Given the description of an element on the screen output the (x, y) to click on. 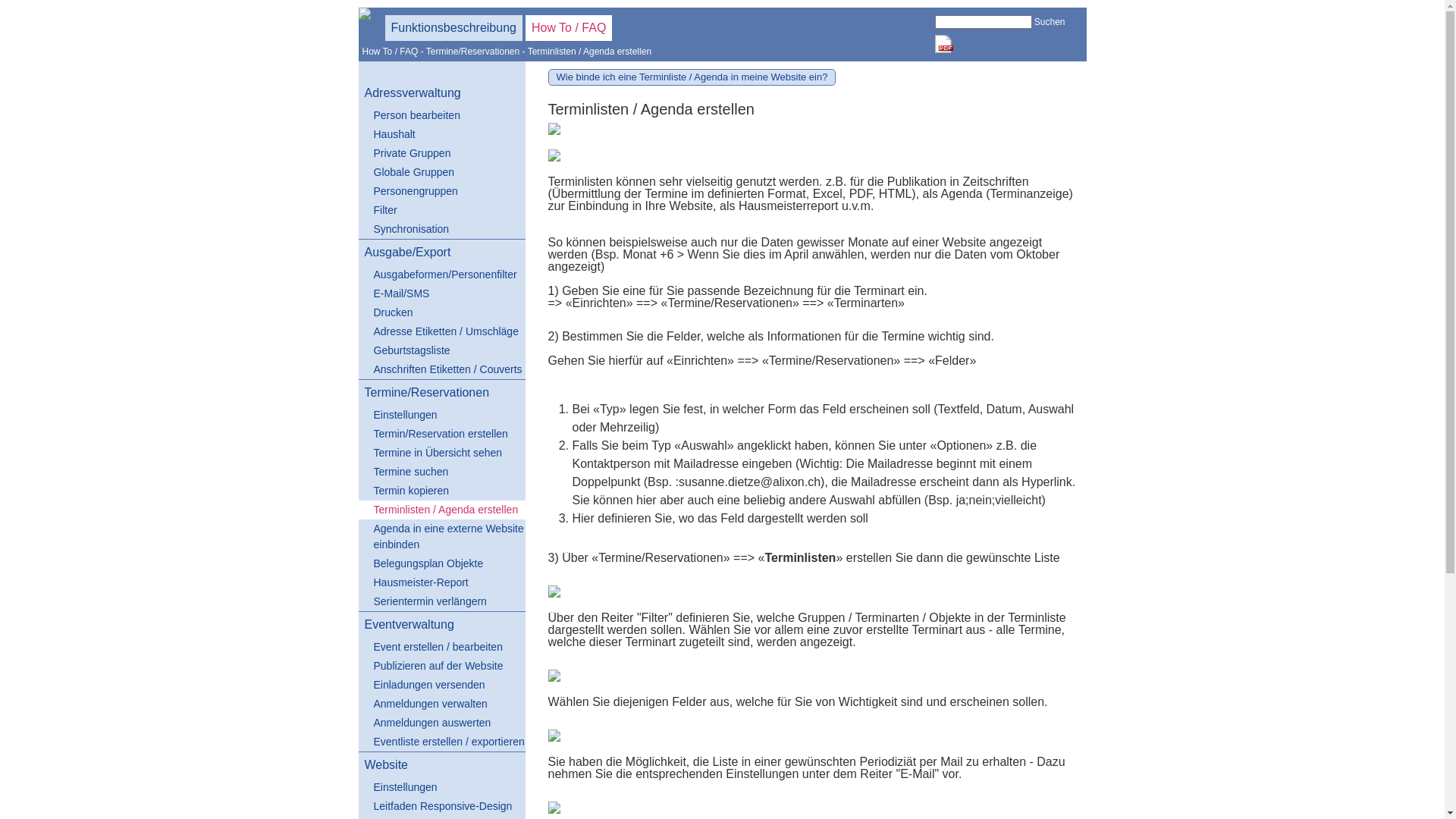
Eventverwaltung Element type: text (440, 624)
Belegungsplan Objekte Element type: text (440, 563)
Leitfaden Responsive-Design Element type: text (440, 806)
Person bearbeiten Element type: text (440, 115)
Hausmeister-Report Element type: text (440, 582)
Drucken Element type: text (440, 312)
Terminlisten / Agenda erstellen Element type: text (440, 509)
Filter Element type: text (440, 209)
Ausgabeformen/Personenfilter Element type: text (440, 274)
Haushalt Element type: text (440, 134)
Funktionsbeschreibung Element type: text (453, 27)
Anmeldungen verwalten Element type: text (440, 703)
Private Gruppen Element type: text (440, 153)
Einladungen versenden Element type: text (440, 684)
Ausgabe/Export Element type: text (440, 252)
Termin kopieren Element type: text (440, 490)
Anmeldungen auswerten Element type: text (440, 722)
Website Element type: text (440, 765)
Anmelden Element type: text (707, 235)
Event erstellen / bearbeiten Element type: text (440, 646)
Adressverwaltung Element type: text (440, 93)
Termin/Reservation erstellen Element type: text (440, 433)
Globale Gruppen Element type: text (440, 172)
Agenda in eine externe Website einbinden Element type: text (440, 536)
Geburtstagsliste Element type: text (440, 350)
Einstellungen Element type: text (440, 787)
Termine suchen Element type: text (440, 471)
Termine/Reservationen Element type: text (440, 392)
Eventliste erstellen / exportieren Element type: text (440, 741)
Einstellungen Element type: text (440, 414)
How To / FAQ Element type: text (568, 27)
Anschriften Etiketten / Couverts Element type: text (440, 369)
Publizieren auf der Website Element type: text (440, 665)
Terminlisten / Agenda erstellen Element type: text (589, 51)
Suchen Element type: text (1049, 21)
Personengruppen Element type: text (440, 191)
Synchronisation Element type: text (440, 228)
E-Mail/SMS Element type: text (440, 293)
How To / FAQ Element type: text (390, 51)
Termine/Reservationen Element type: text (472, 51)
